Given the description of an element on the screen output the (x, y) to click on. 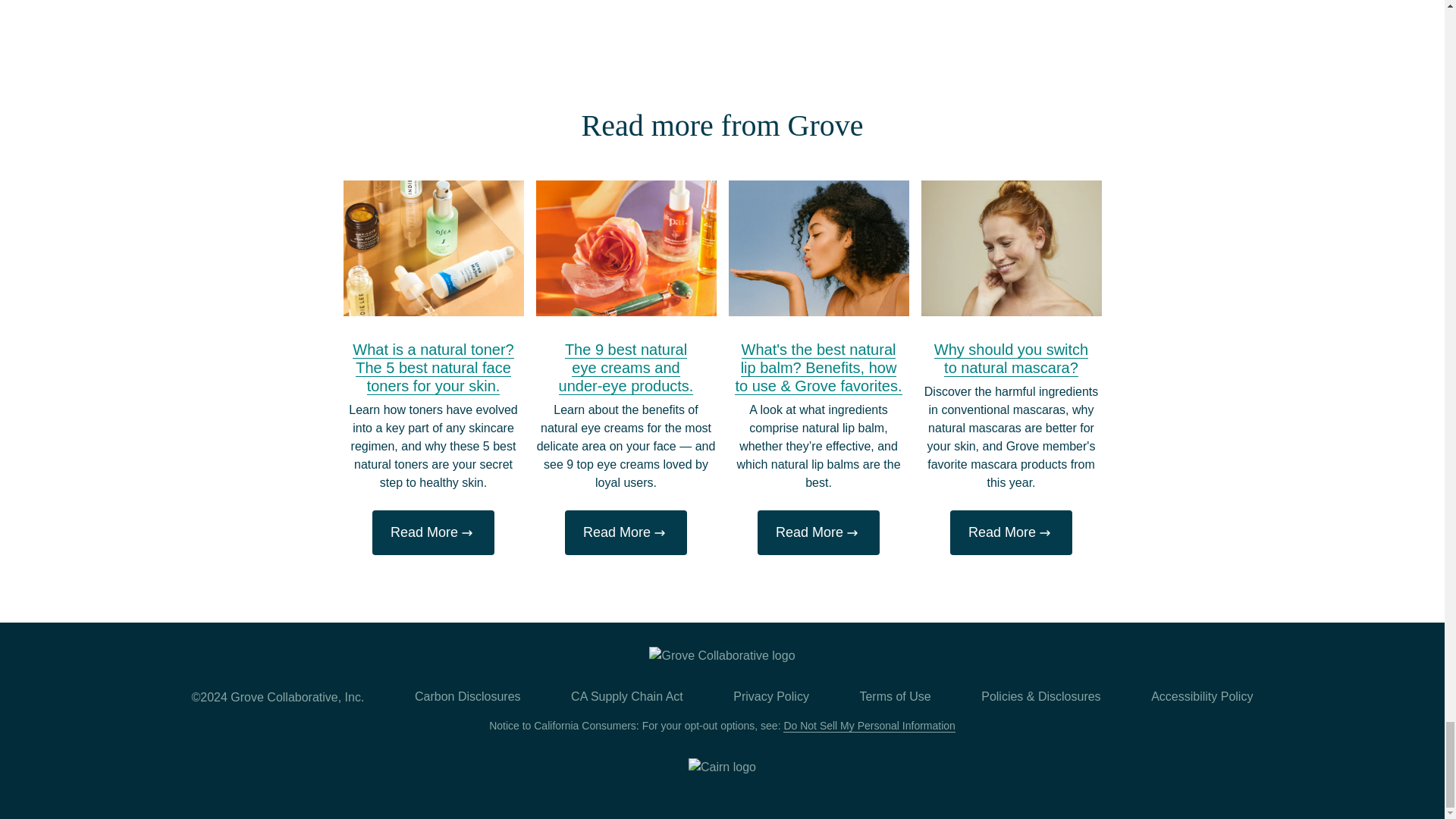
arrow (659, 532)
arrow (1044, 532)
arrow (852, 532)
arrow (467, 532)
